Given the description of an element on the screen output the (x, y) to click on. 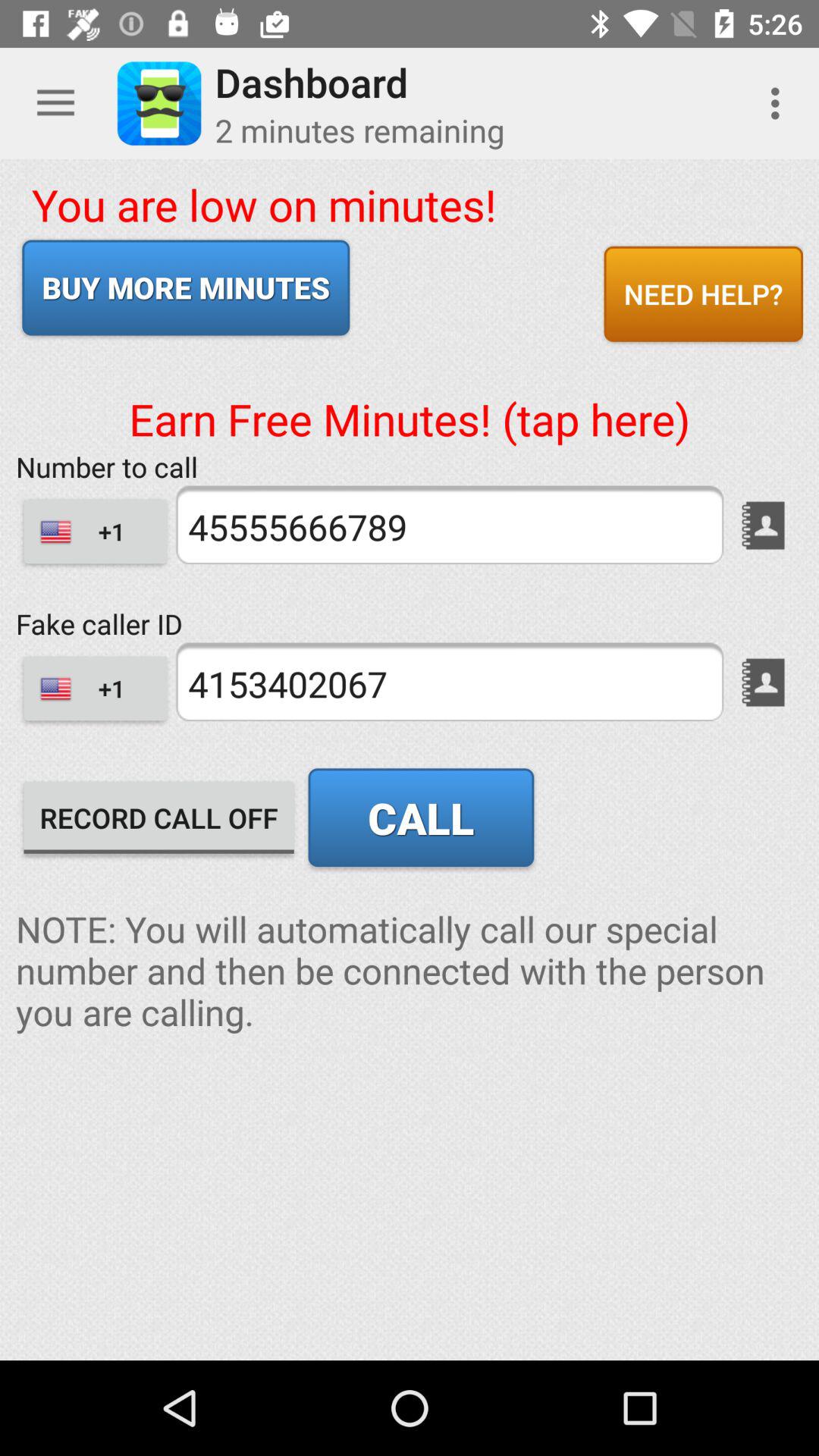
press the icon next to +1 icon (449, 681)
